Given the description of an element on the screen output the (x, y) to click on. 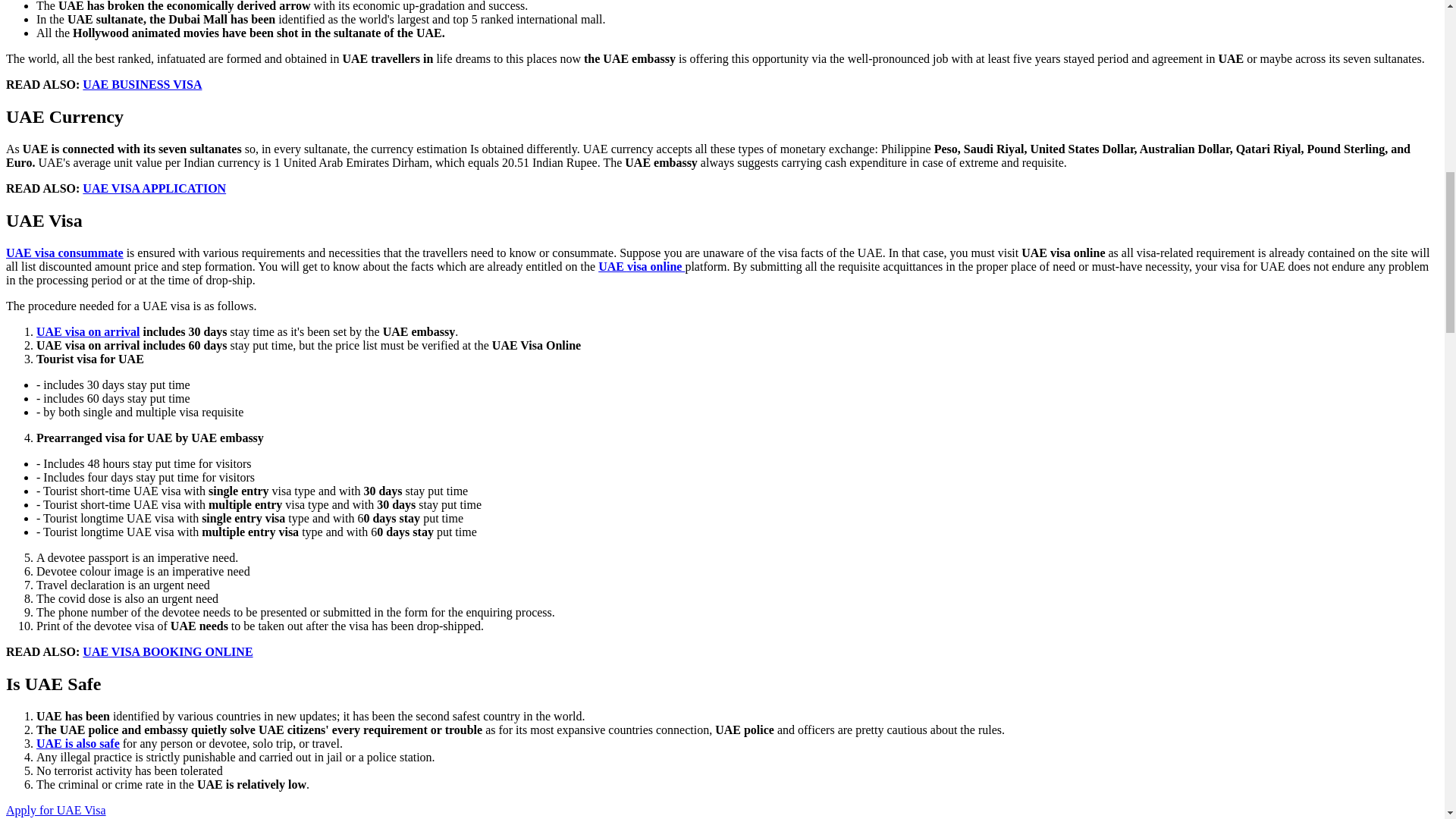
UAE VISA APPLICATION (153, 187)
UAE visa on arrival (87, 331)
UAE VISA BOOKING ONLINE (166, 651)
UAE BUSINESS VISA (142, 83)
UAE (612, 266)
Apply for UAE Visa (55, 809)
UAE is also safe (77, 743)
UAE visa consummate (64, 252)
visa online (655, 266)
